Given the description of an element on the screen output the (x, y) to click on. 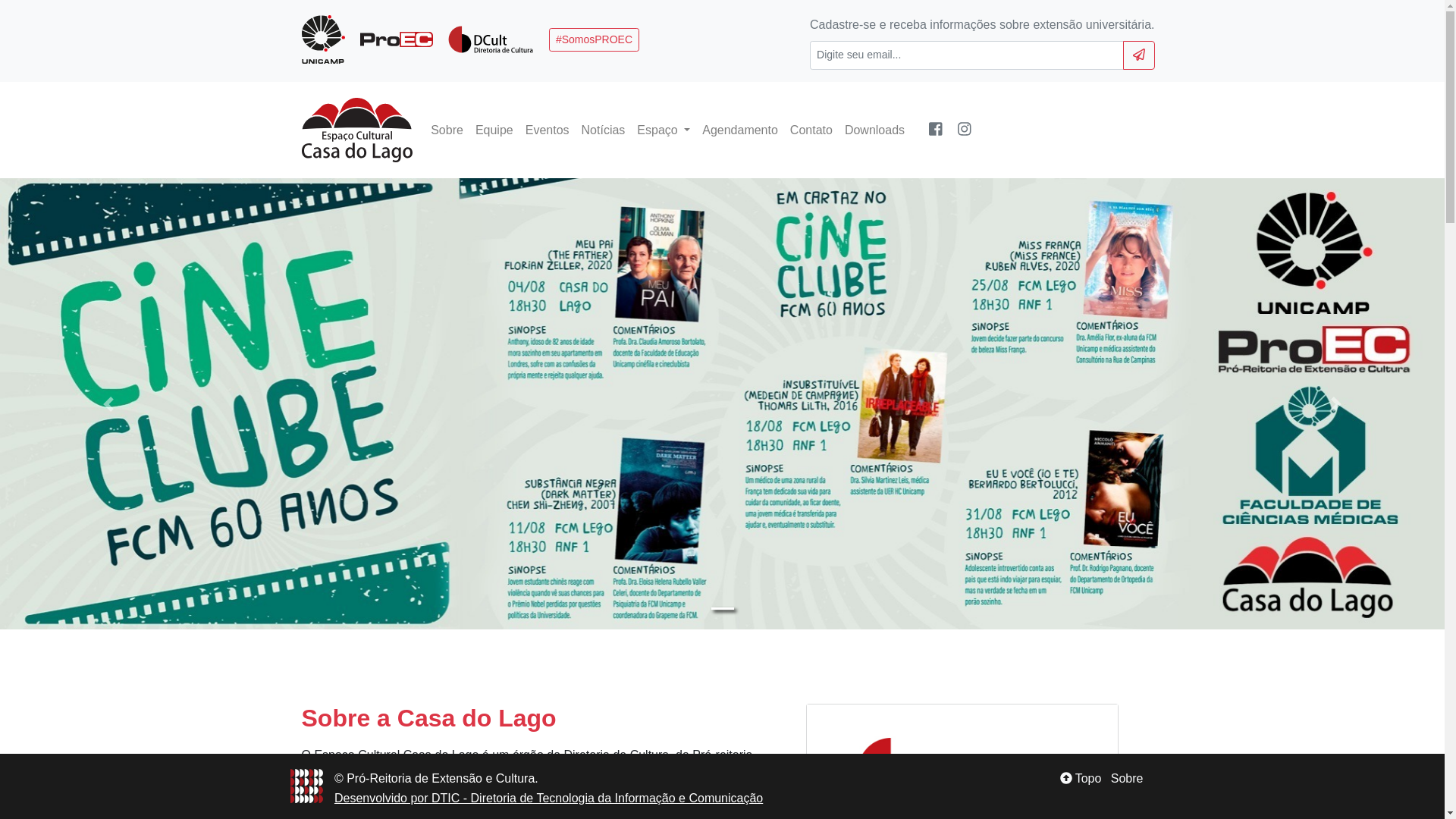
Eventos Element type: text (547, 130)
Contato Element type: text (811, 130)
Agendamento Element type: text (740, 130)
Equipe Element type: text (494, 130)
Sobre Element type: text (446, 130)
Topo Element type: text (1080, 777)
#SomosPROEC Element type: text (594, 38)
Downloads Element type: text (874, 130)
Anterior Element type: text (108, 403)
Sobre Element type: text (1126, 777)
